Given the description of an element on the screen output the (x, y) to click on. 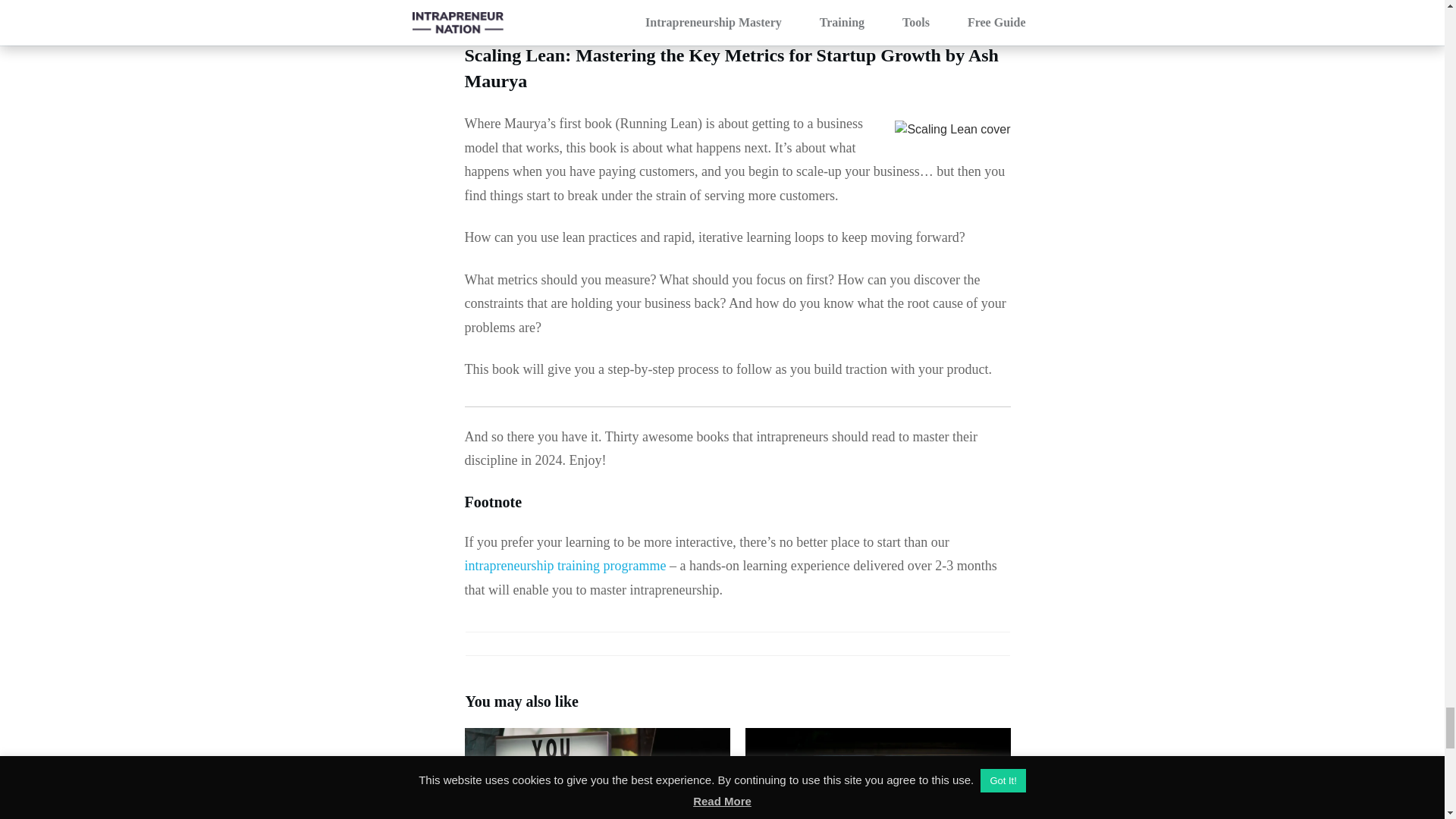
The Vital Role of a Vision Statement in Innovation Projects (596, 773)
intrapreneurship training programme (564, 565)
